Given the description of an element on the screen output the (x, y) to click on. 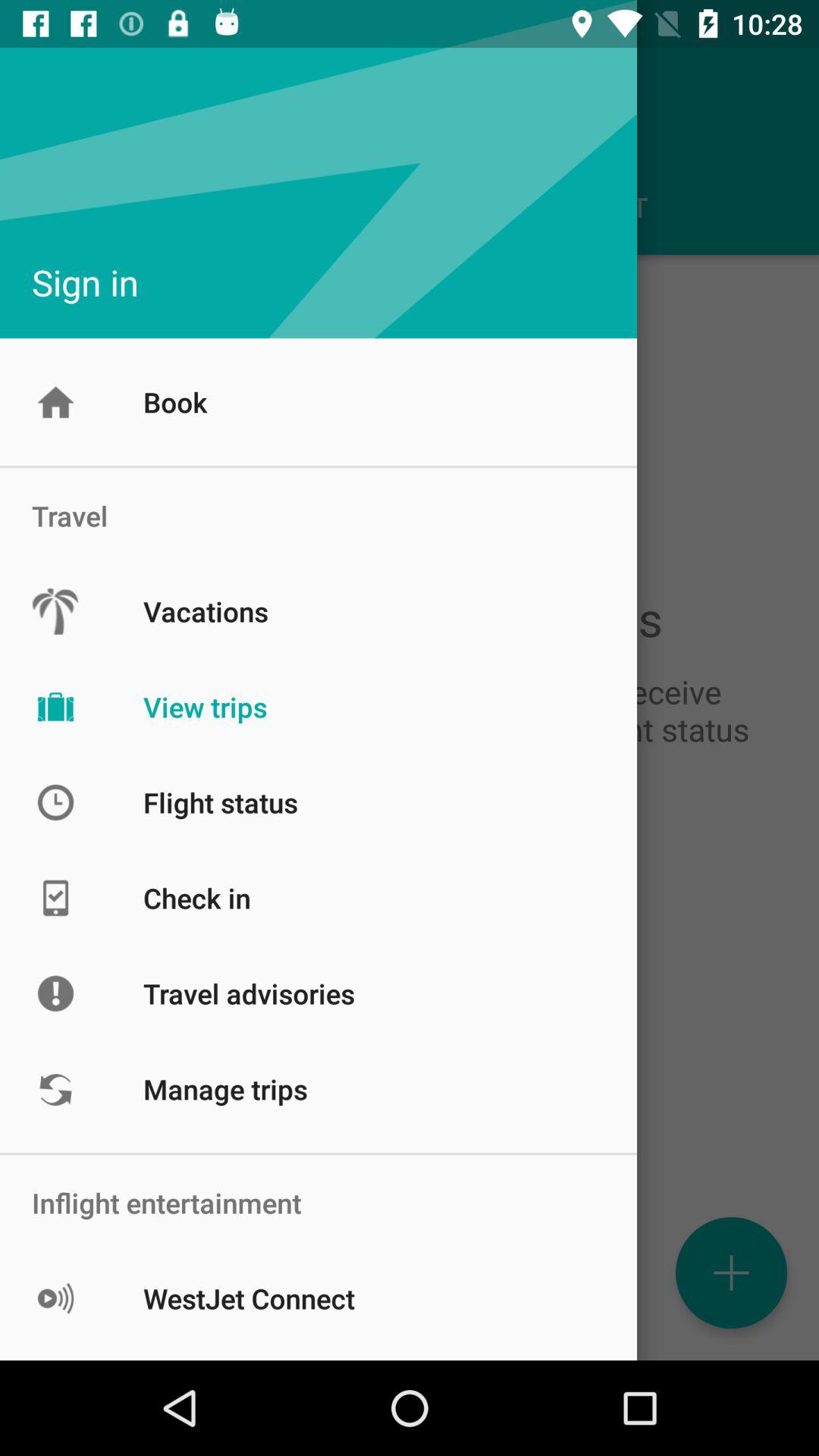
click on the green circle on bottom right (731, 1273)
